Given the description of an element on the screen output the (x, y) to click on. 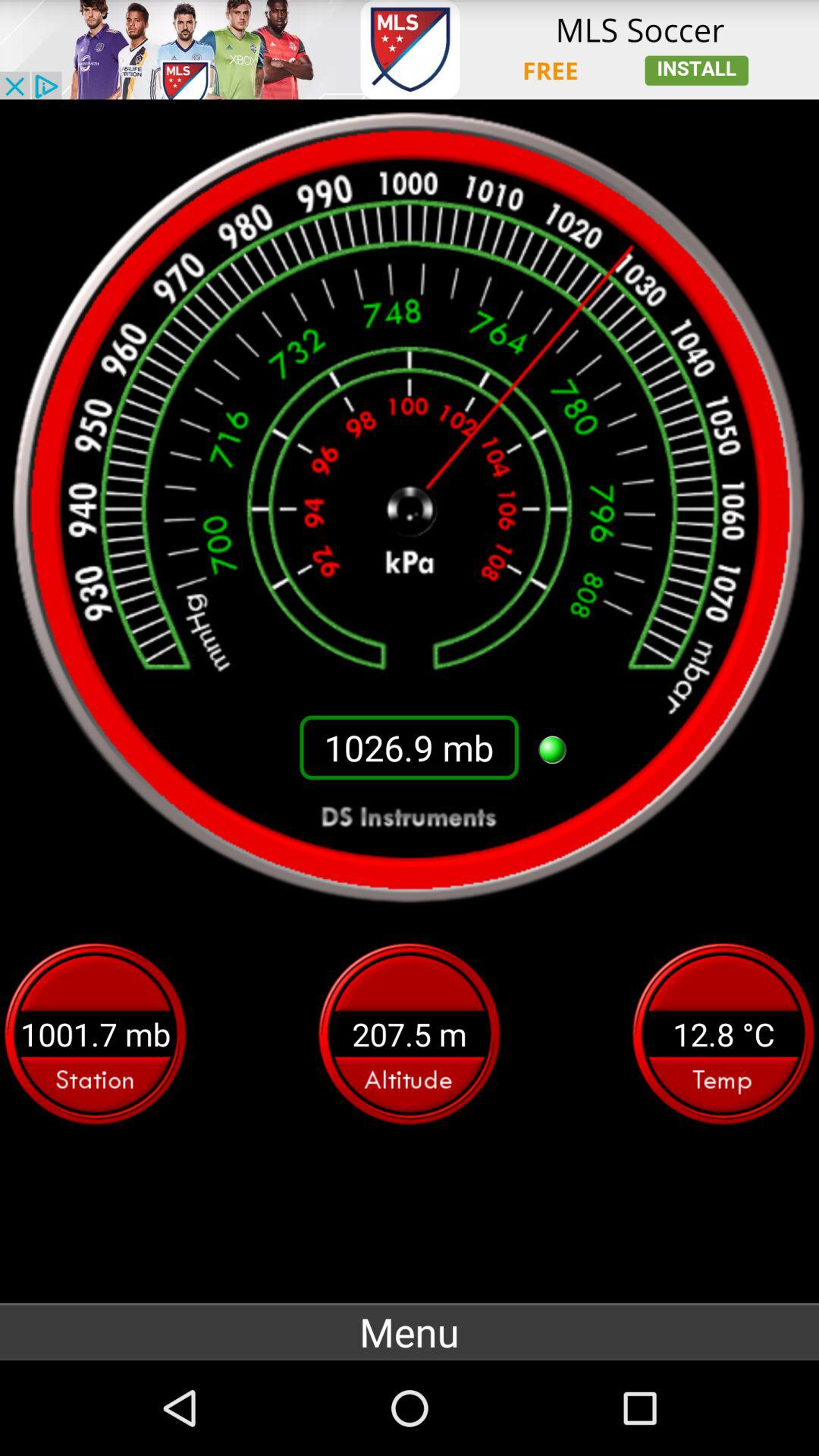
tap to view advertisement (409, 49)
